Given the description of an element on the screen output the (x, y) to click on. 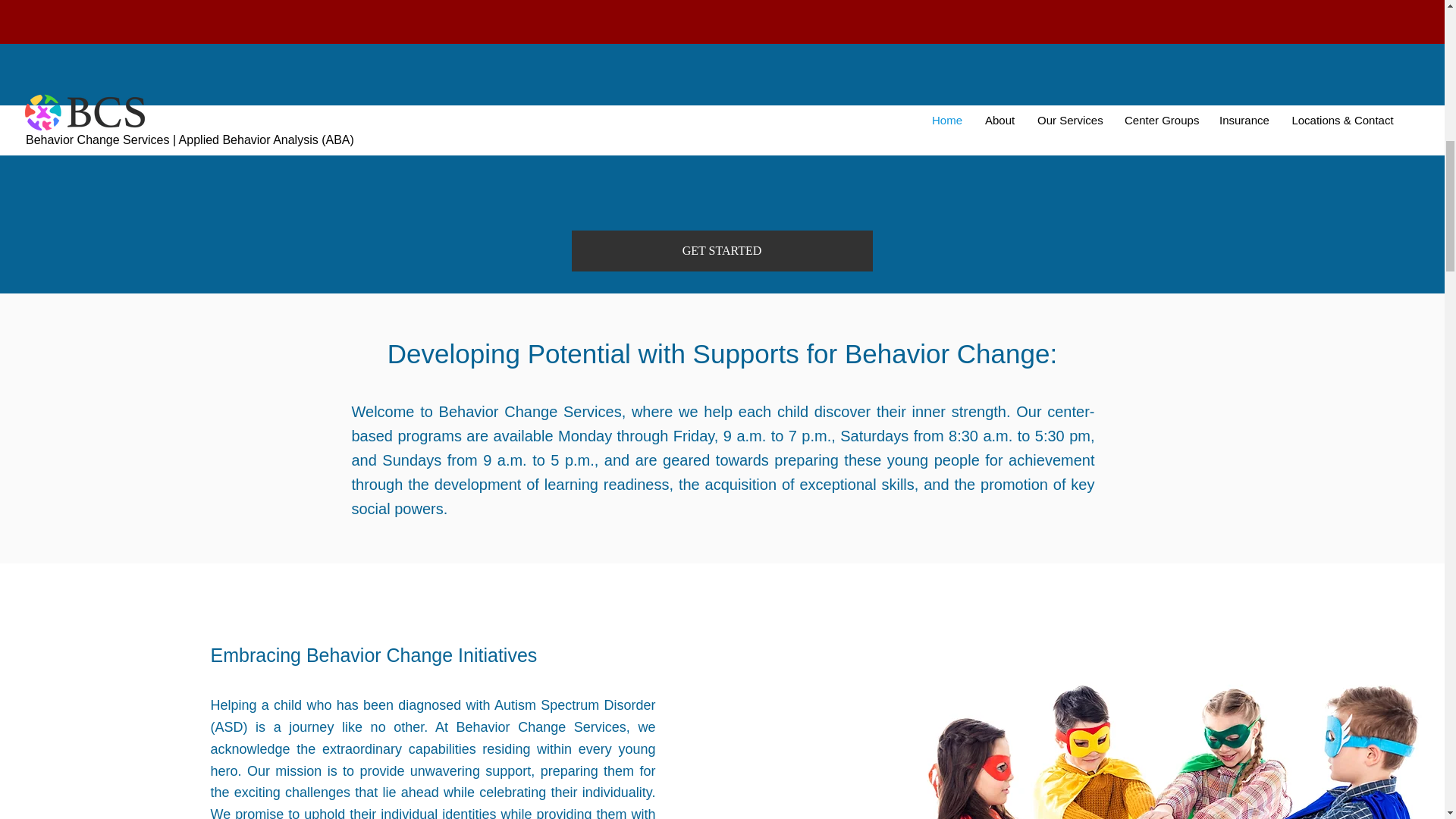
GET STARTED (722, 250)
